Given the description of an element on the screen output the (x, y) to click on. 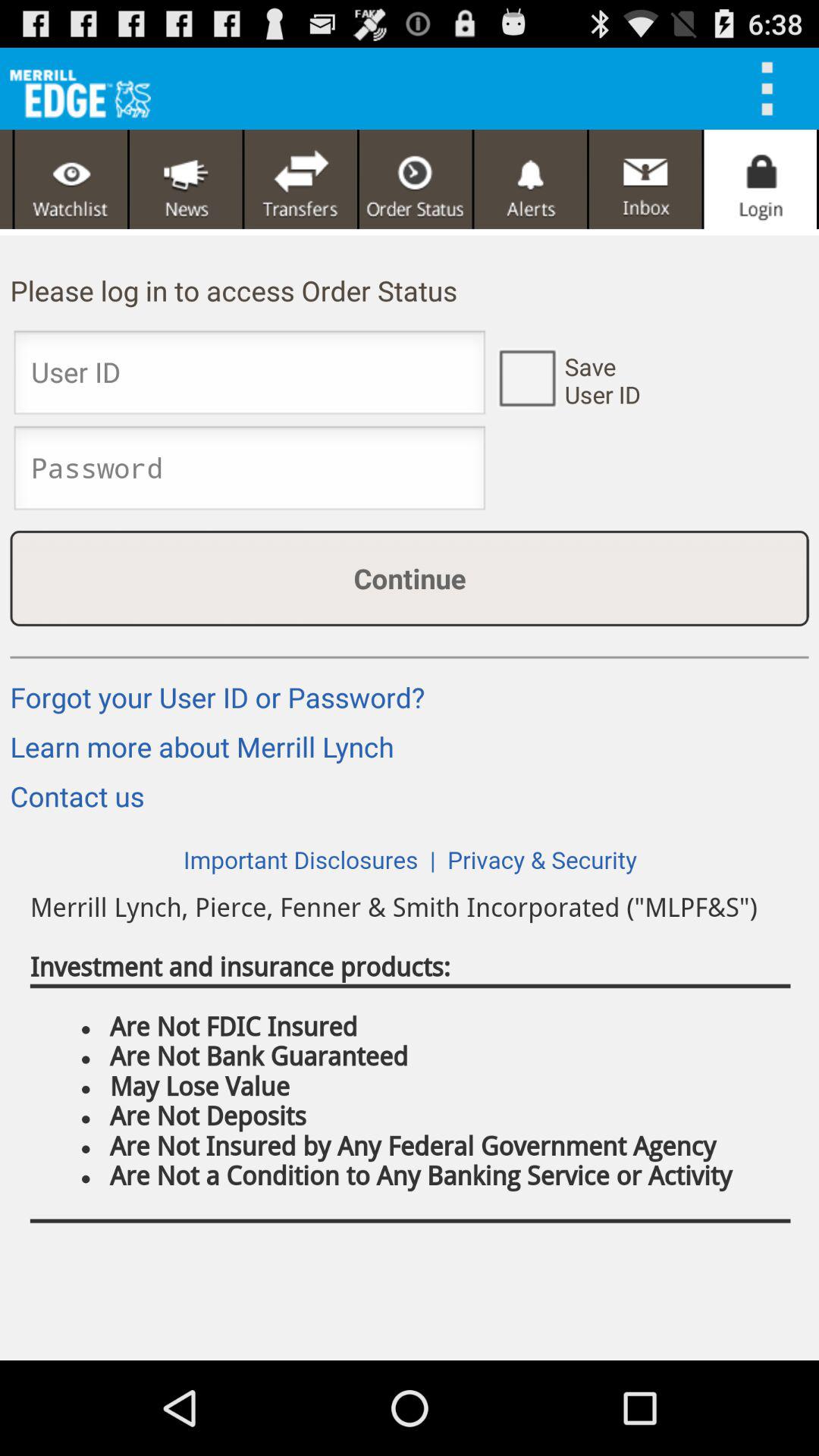
save information (526, 376)
